Given the description of an element on the screen output the (x, y) to click on. 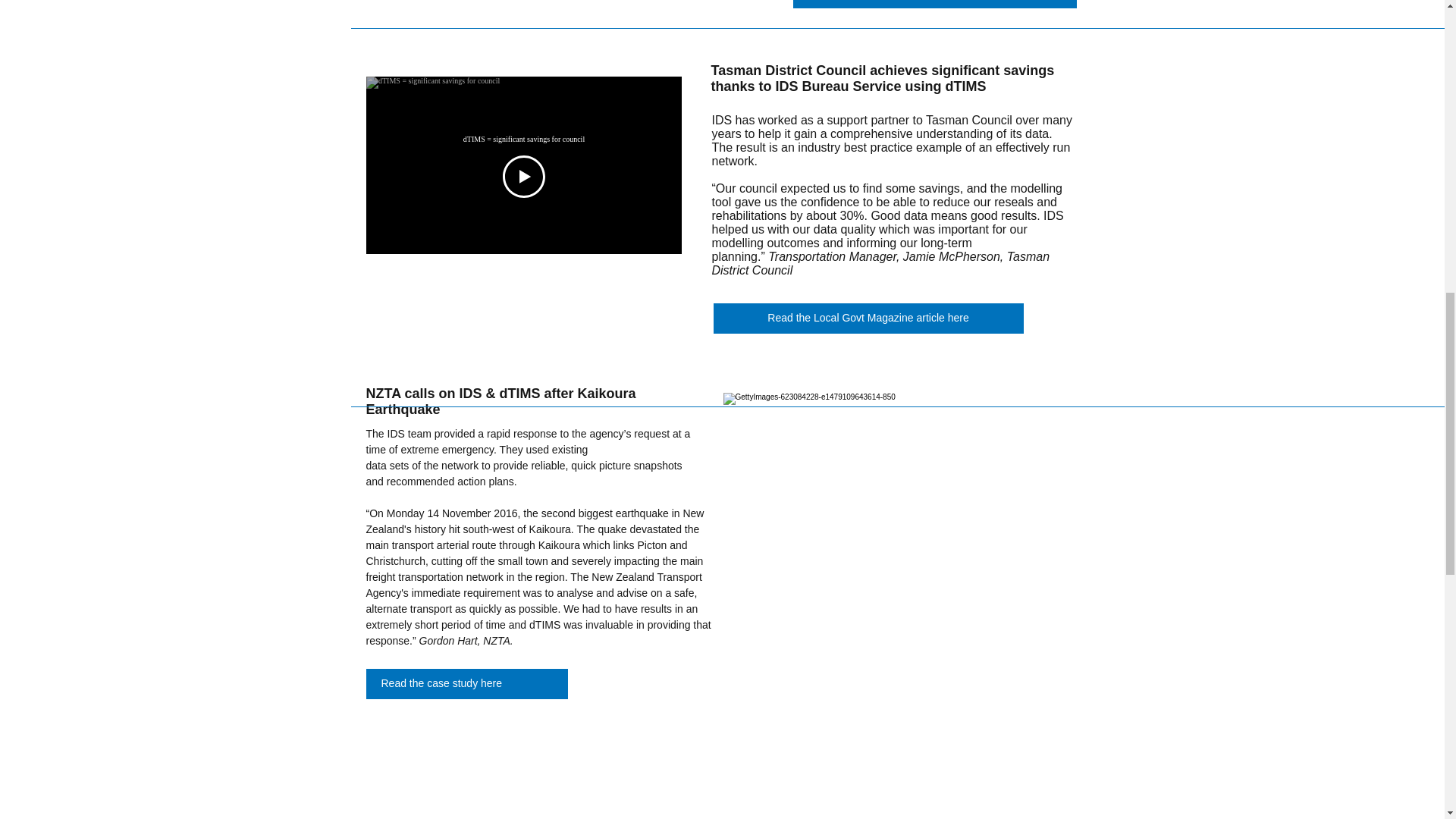
Read the NZ Construction News Case Study here (935, 4)
Read the Local Govt Magazine article here (868, 318)
Read the case study here (466, 684)
